Given the description of an element on the screen output the (x, y) to click on. 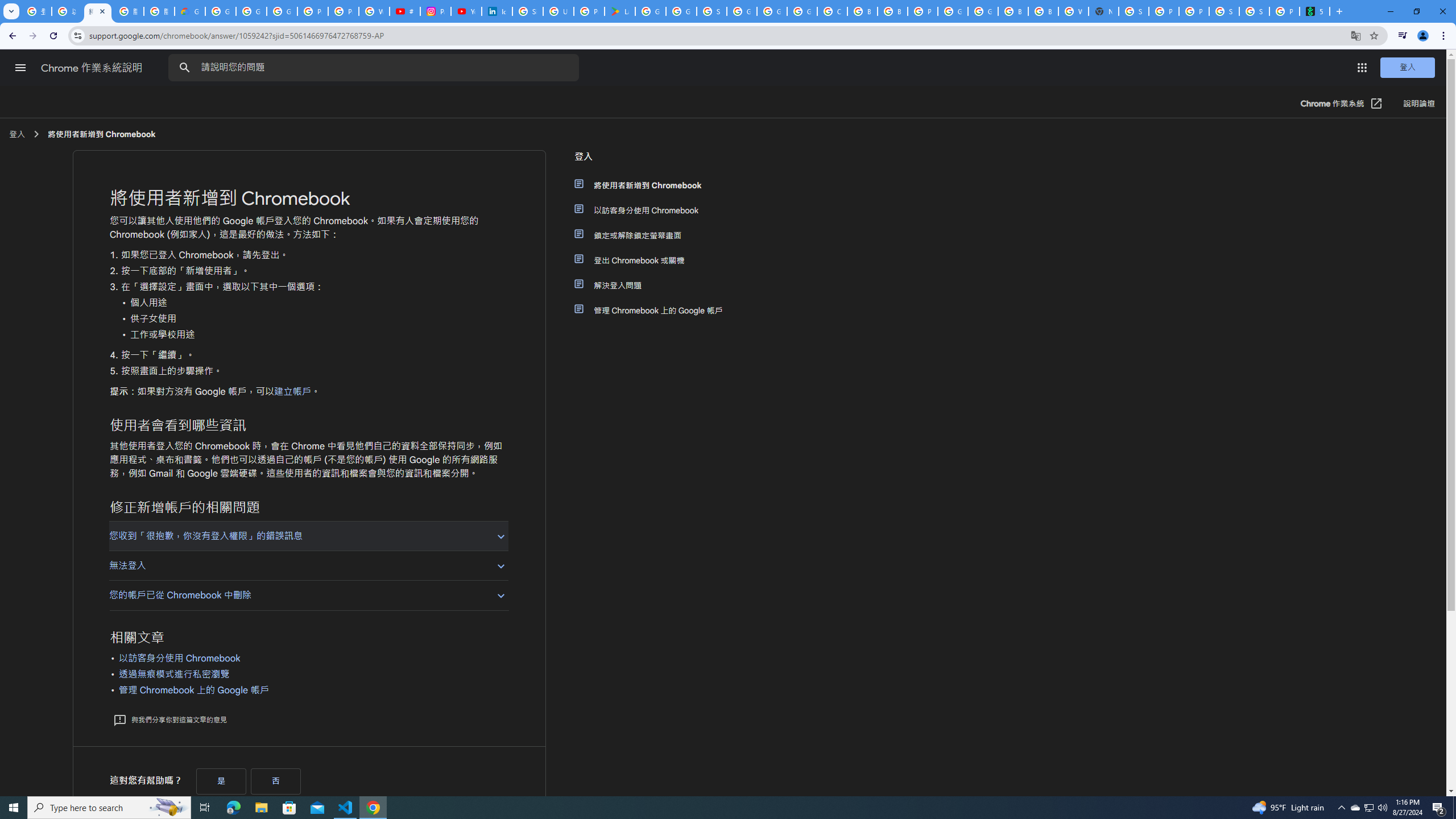
Google Cloud Platform (771, 11)
Browse Chrome as a guest - Computer - Google Chrome Help (892, 11)
Browse Chrome as a guest - Computer - Google Chrome Help (862, 11)
Browse Chrome as a guest - Computer - Google Chrome Help (1012, 11)
Google Cloud Platform (952, 11)
